Given the description of an element on the screen output the (x, y) to click on. 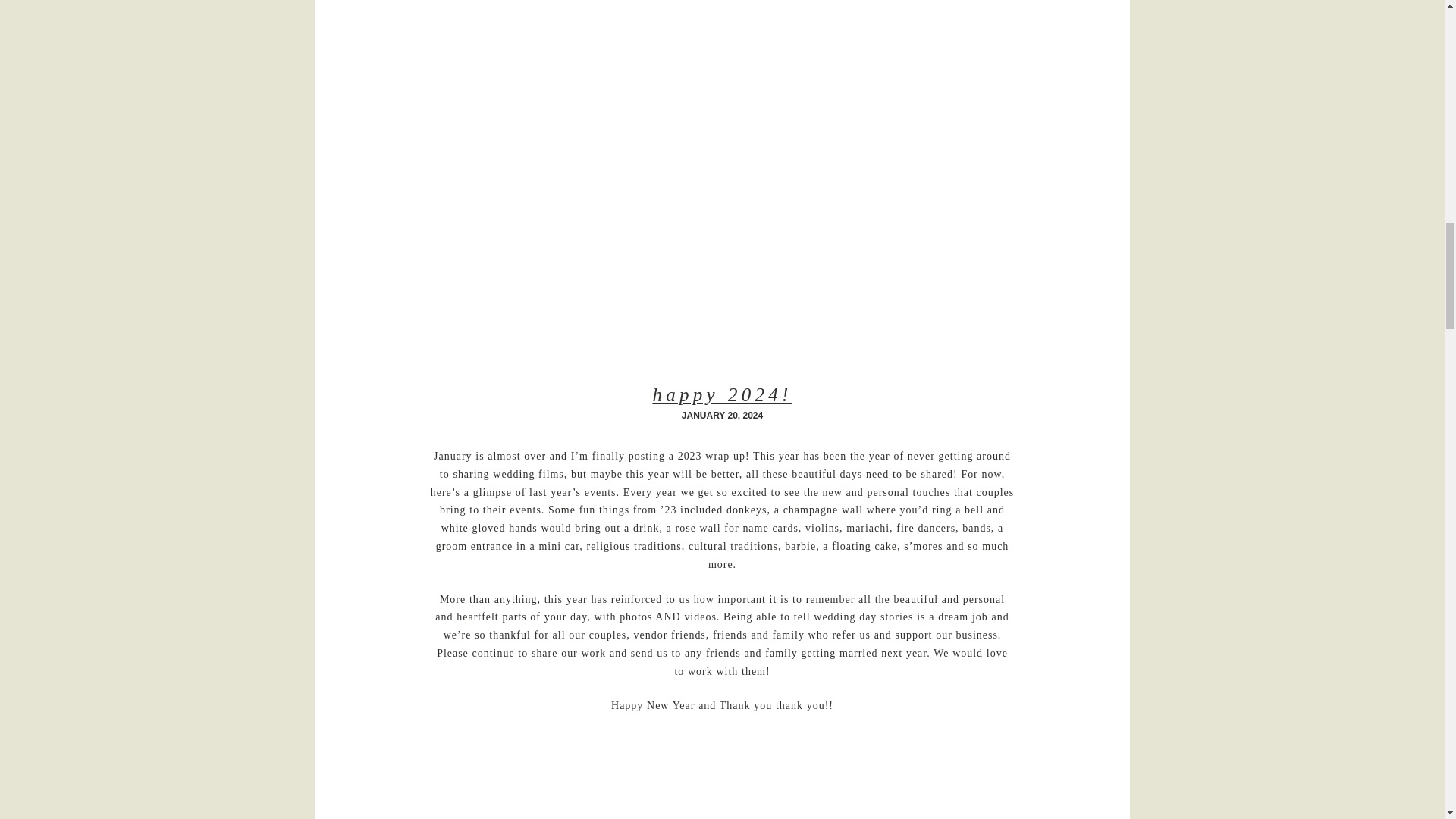
happy 2024! (722, 395)
Permalink to Happy 2024! (722, 395)
2023 Recap (721, 775)
